Given the description of an element on the screen output the (x, y) to click on. 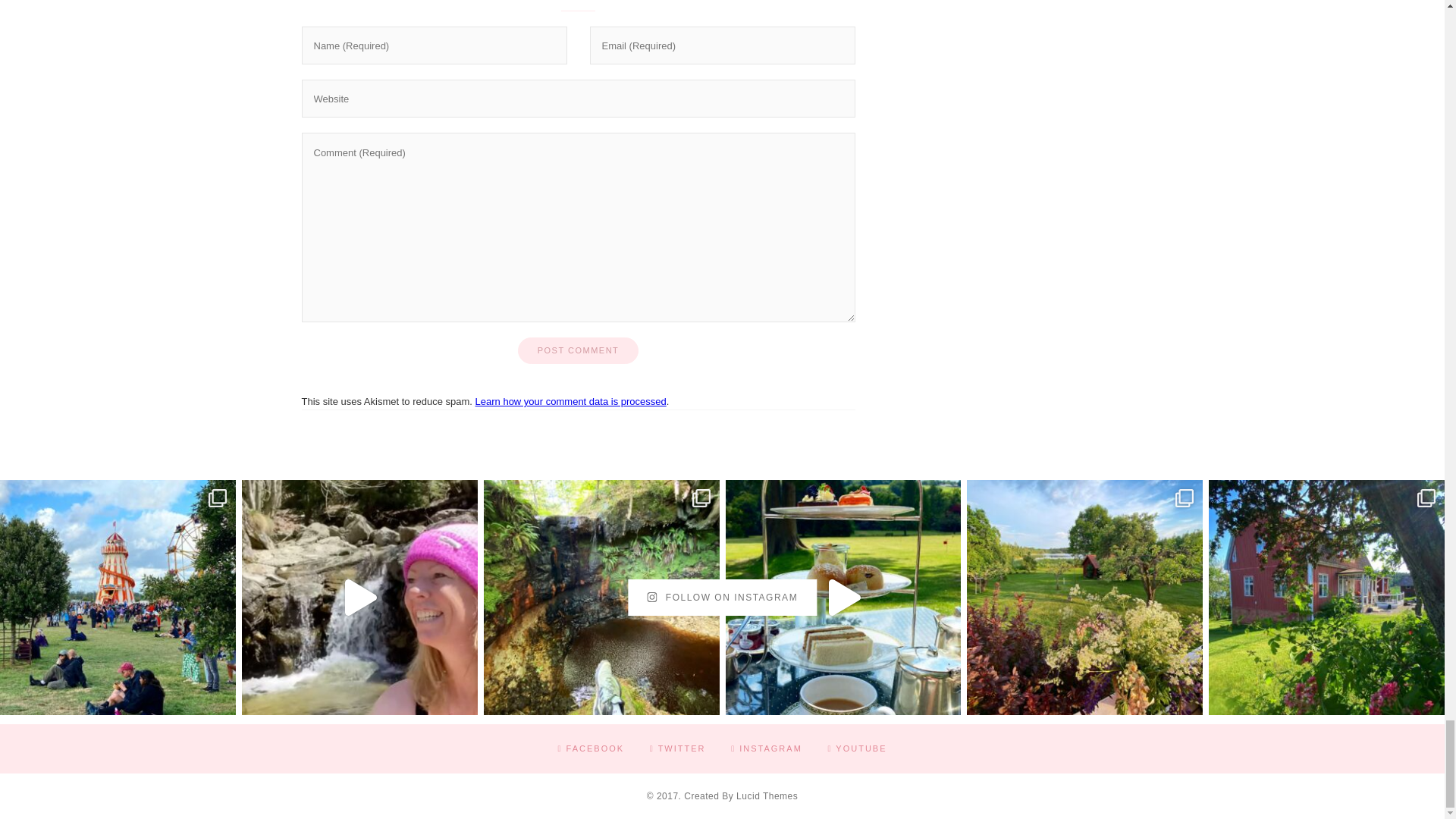
FACEBOOK (590, 748)
TWITTER (677, 748)
Post Comment (578, 350)
Post Comment (578, 350)
Learn how your comment data is processed (571, 401)
FOLLOW ON INSTAGRAM (721, 597)
INSTAGRAM (766, 748)
